Given the description of an element on the screen output the (x, y) to click on. 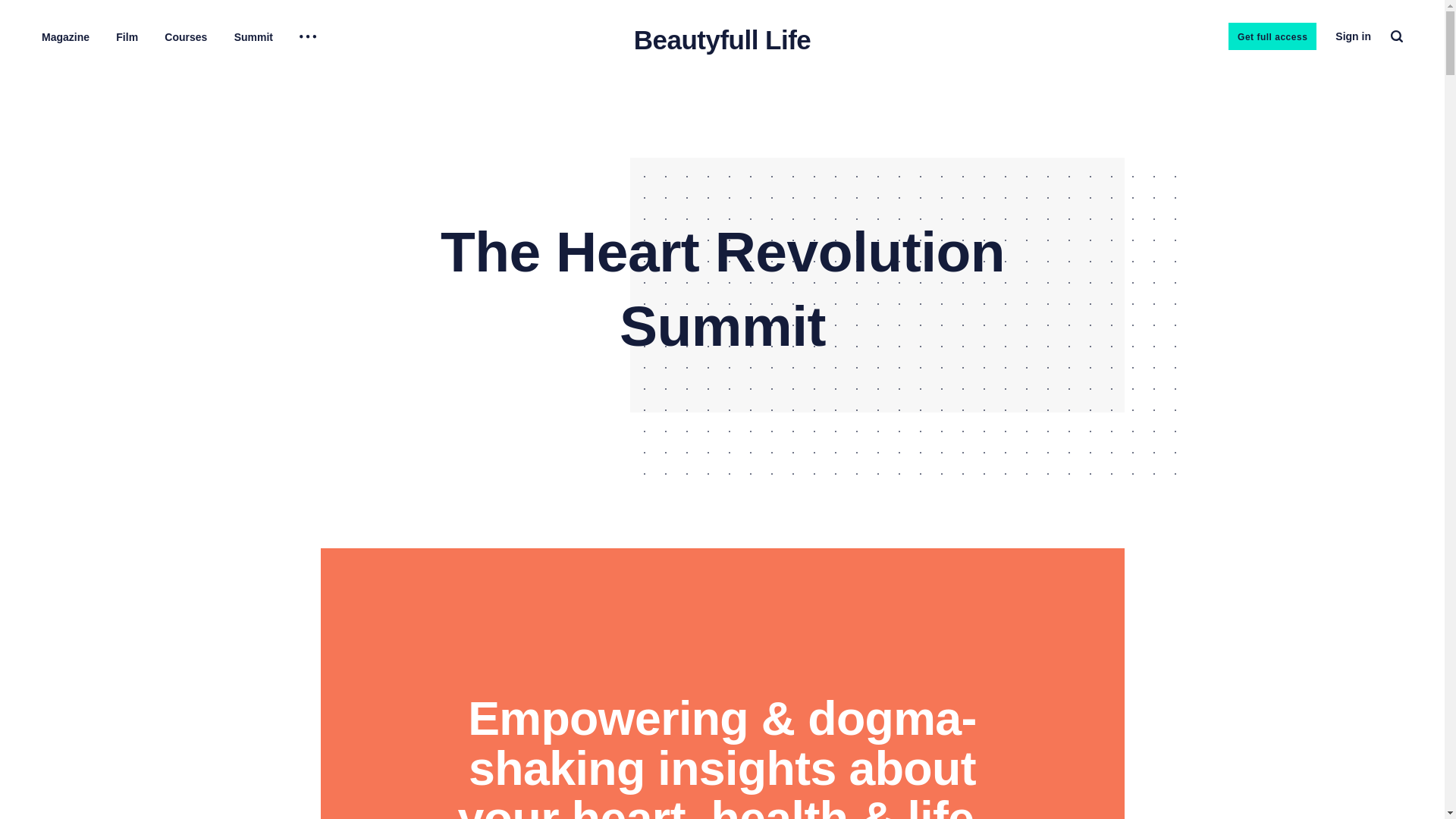
Courses (185, 37)
Beautyfull Life (721, 39)
Get full access (1272, 35)
Summit (253, 37)
Sign in (1353, 36)
Film (127, 37)
Magazine (65, 37)
